Given the description of an element on the screen output the (x, y) to click on. 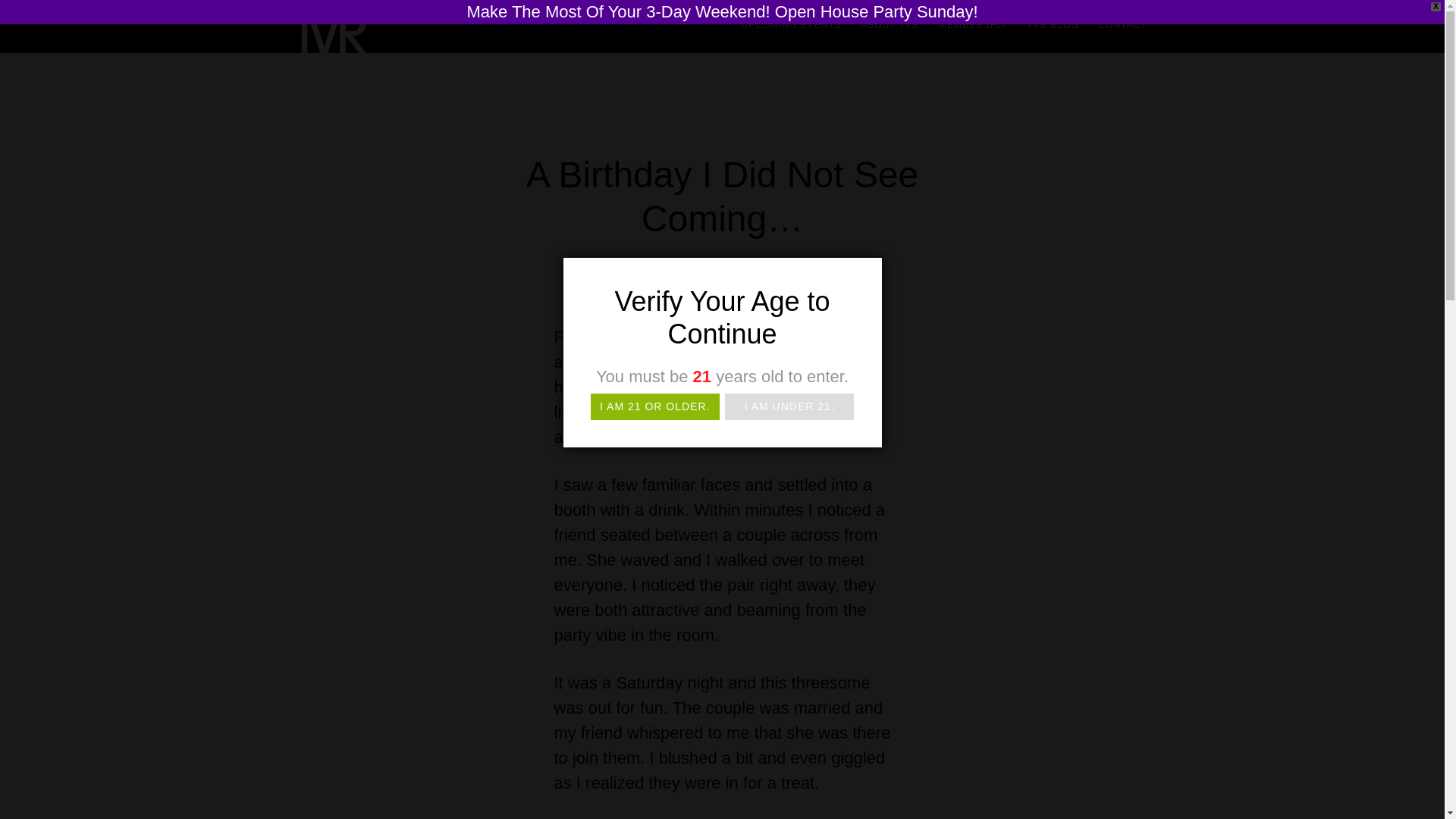
CONTACT (1122, 24)
TVR BLOG (1052, 24)
ABOUT TVR (889, 24)
THE VELVET ROPE (425, 37)
I AM 21 OR OLDER. (655, 406)
UPCOMING EVENTS (790, 24)
MEMBERSHIP (972, 24)
I AM UNDER 21. (789, 406)
